Given the description of an element on the screen output the (x, y) to click on. 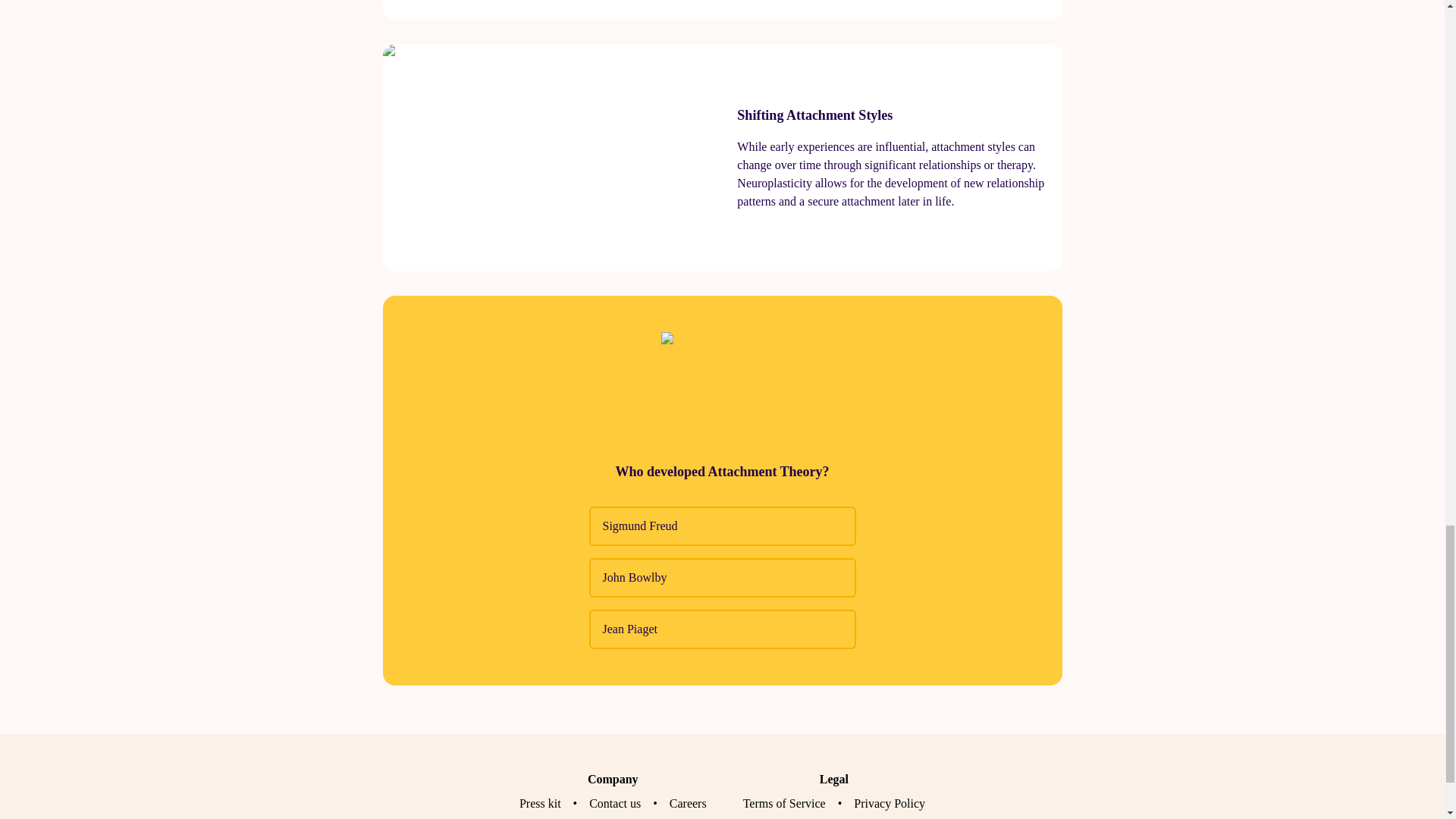
Contact us (614, 802)
Careers (687, 802)
Press kit (539, 802)
Terms of Service (783, 802)
Privacy Policy (888, 802)
